Given the description of an element on the screen output the (x, y) to click on. 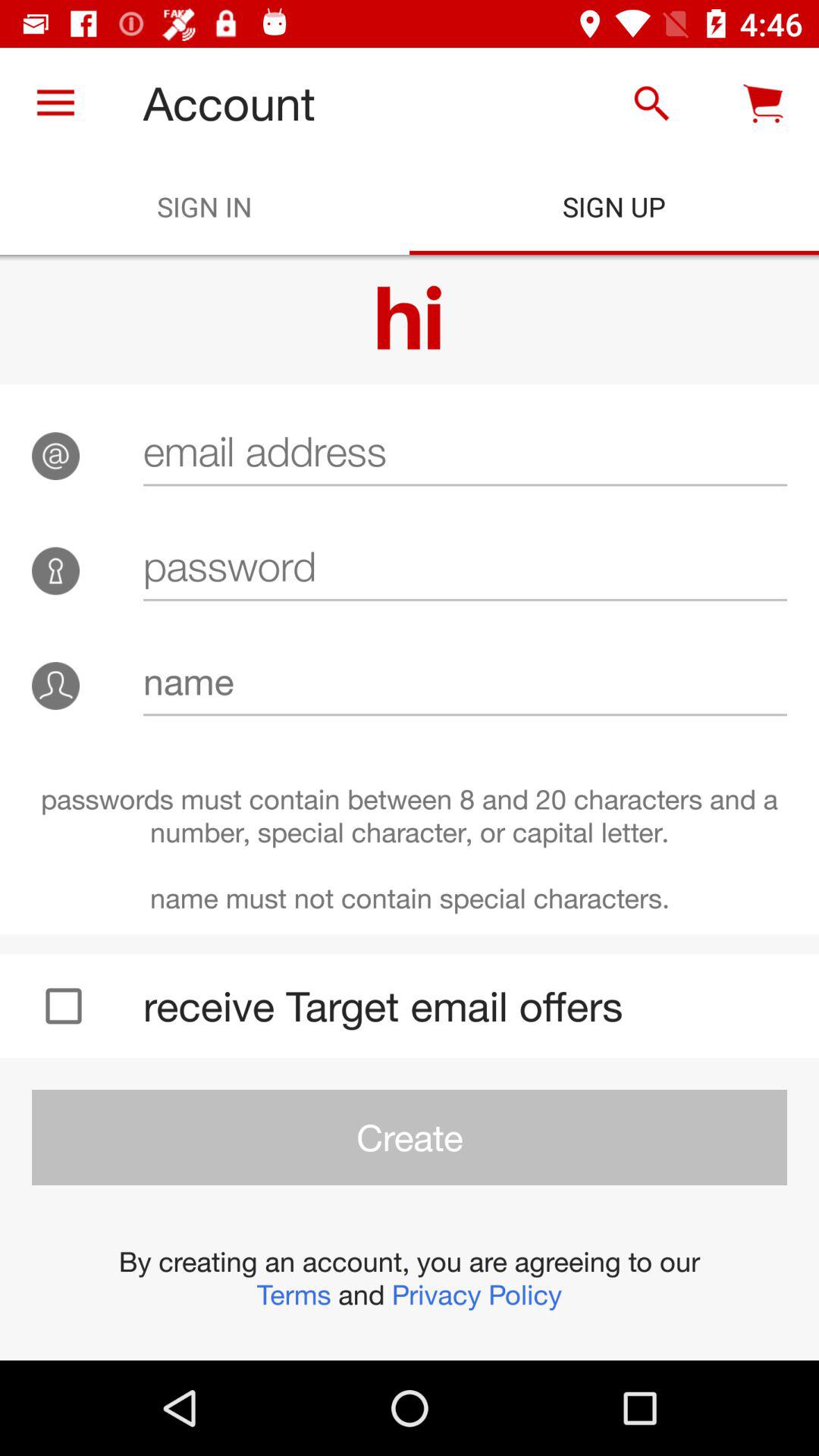
launch the item below create icon (409, 1277)
